Given the description of an element on the screen output the (x, y) to click on. 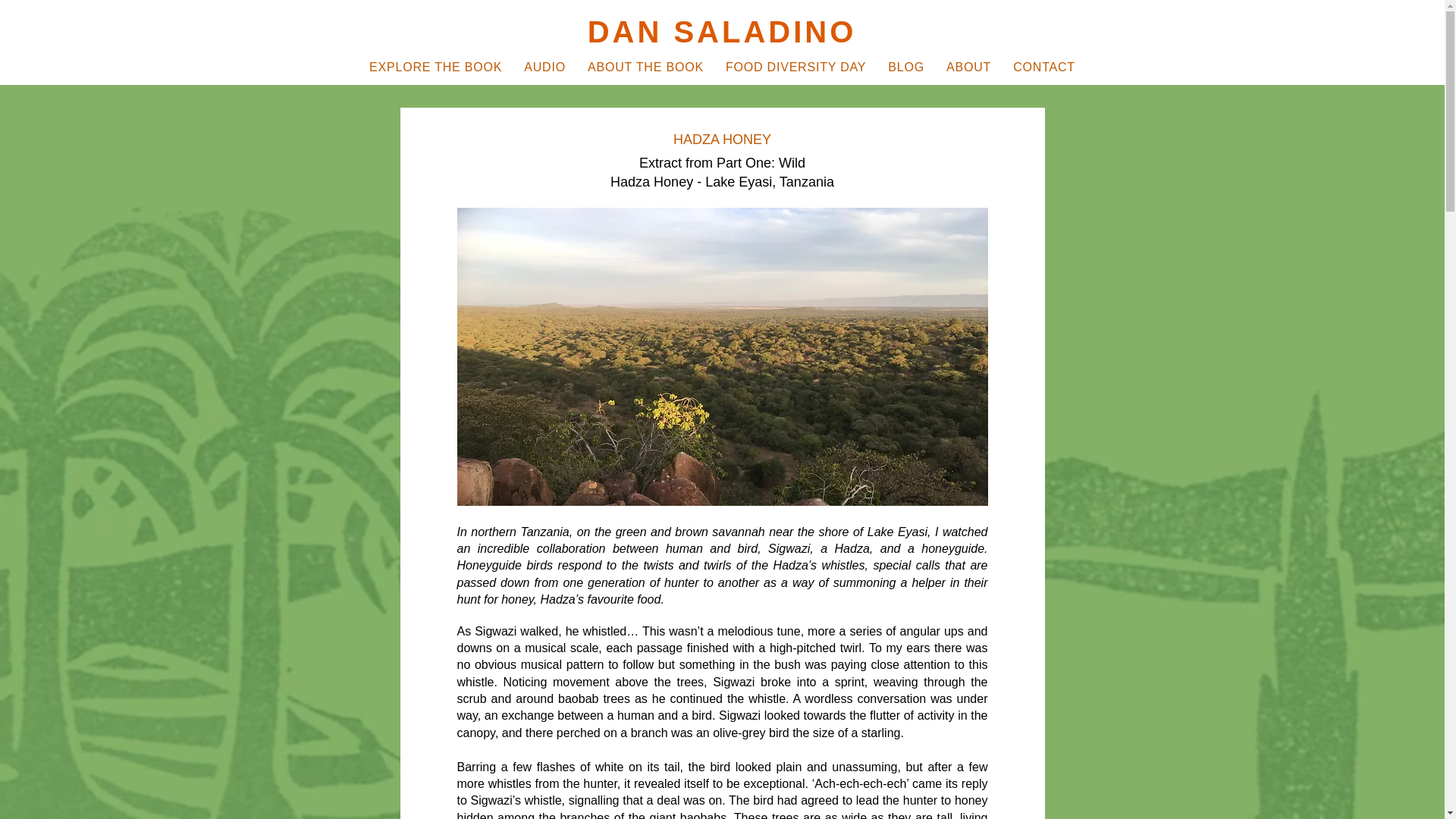
CONTACT (1044, 67)
DAN SALADINO (722, 31)
ABOUT THE BOOK (645, 67)
AUDIO (544, 67)
FOOD DIVERSITY DAY (795, 67)
EXPLORE THE BOOK (435, 67)
BLOG (906, 67)
ABOUT (969, 67)
